Given the description of an element on the screen output the (x, y) to click on. 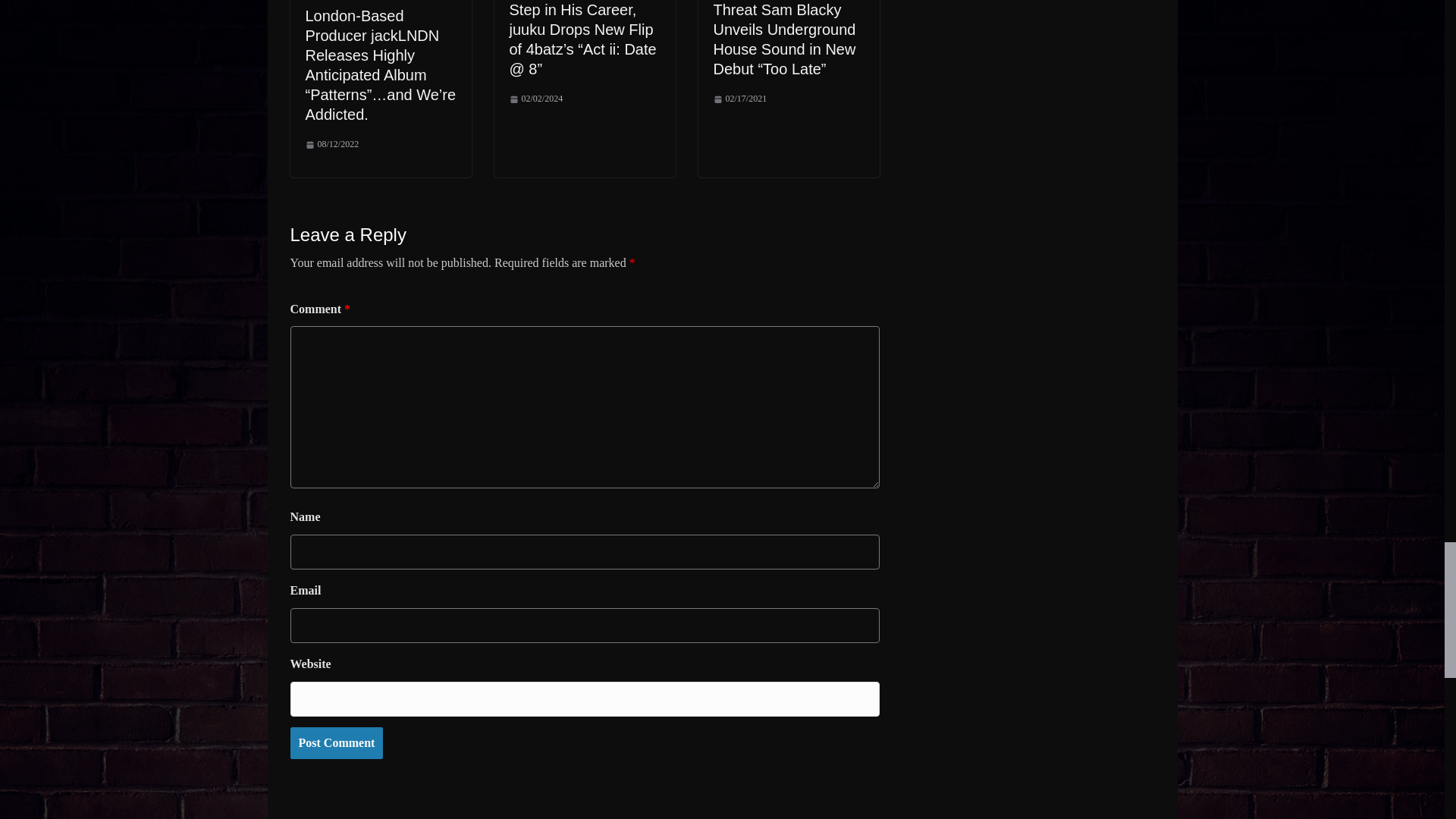
Post Comment (335, 743)
